Given the description of an element on the screen output the (x, y) to click on. 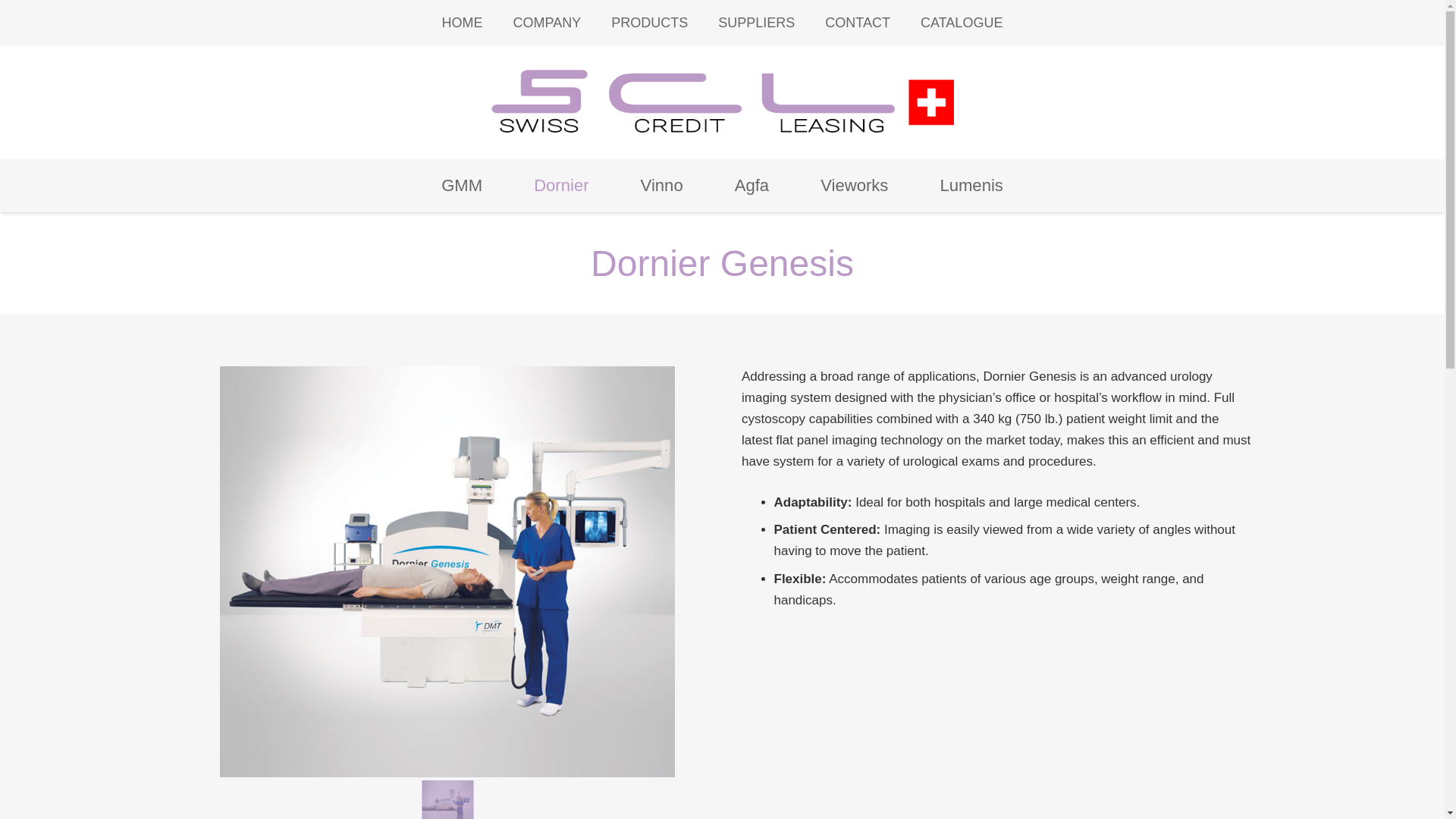
COMPANY (546, 22)
HOME (461, 22)
SUPPLIERS (756, 22)
PRODUCTS (649, 22)
CONTACT (857, 22)
GMM (461, 185)
CATALOGUE (961, 22)
